Given the description of an element on the screen output the (x, y) to click on. 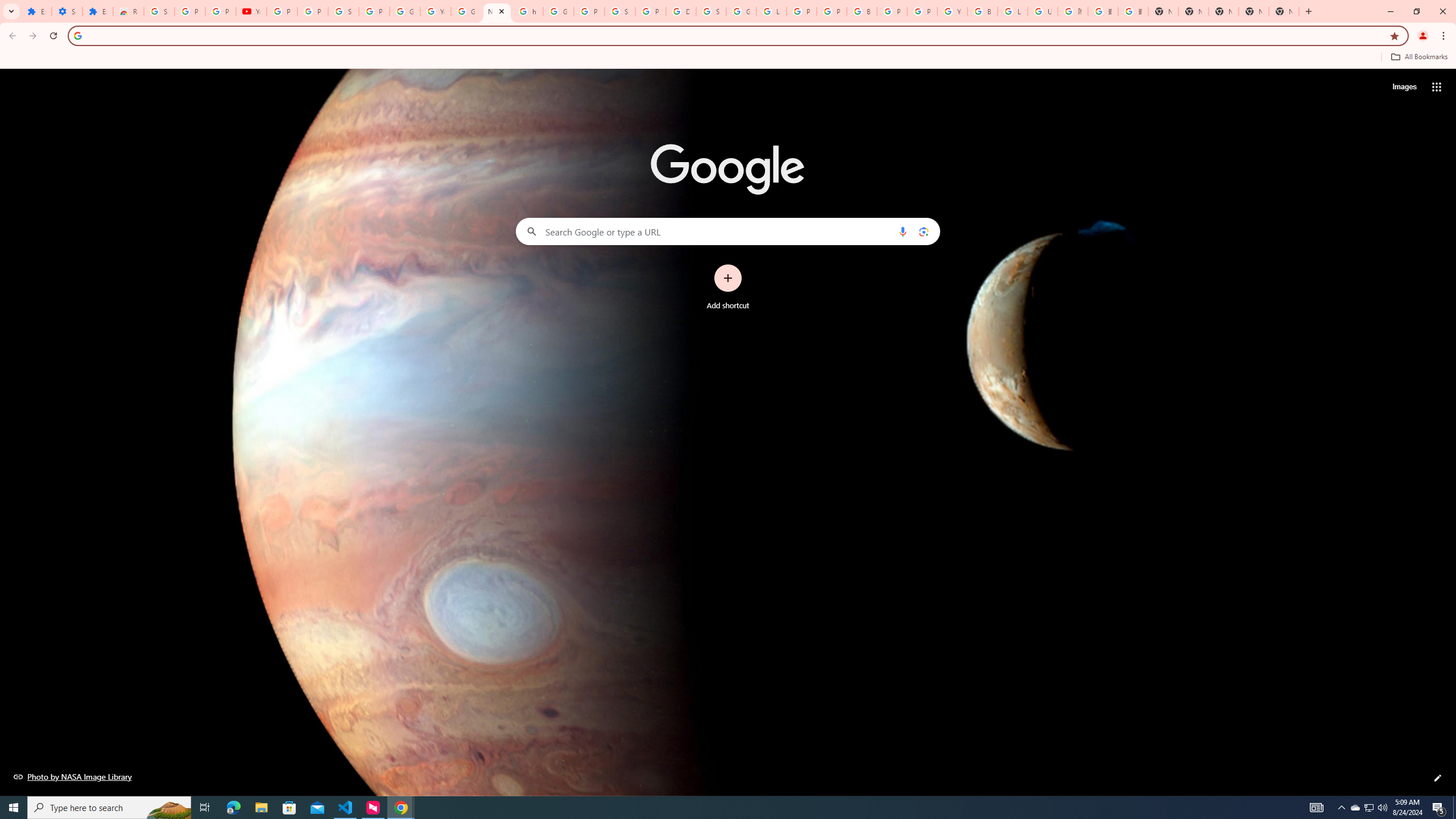
Sign in - Google Accounts (619, 11)
Search Google or type a URL (727, 230)
Privacy Help Center - Policies Help (830, 11)
Bookmarks (728, 58)
Sign in - Google Accounts (710, 11)
Google Account (404, 11)
Photo by NASA Image Library (72, 776)
